Given the description of an element on the screen output the (x, y) to click on. 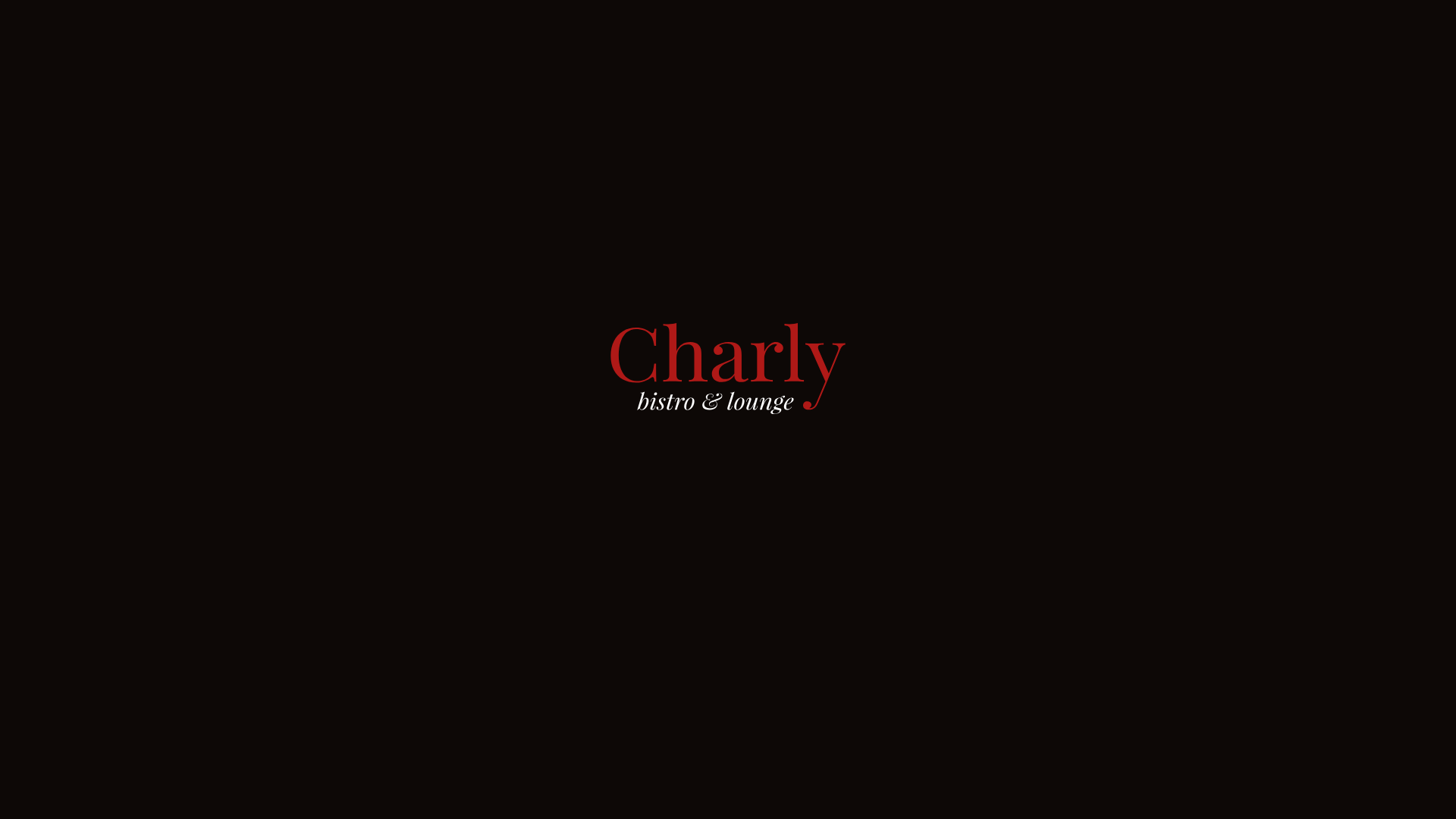
DE Element type: text (111, 798)
EN Element type: text (72, 798)
